Given the description of an element on the screen output the (x, y) to click on. 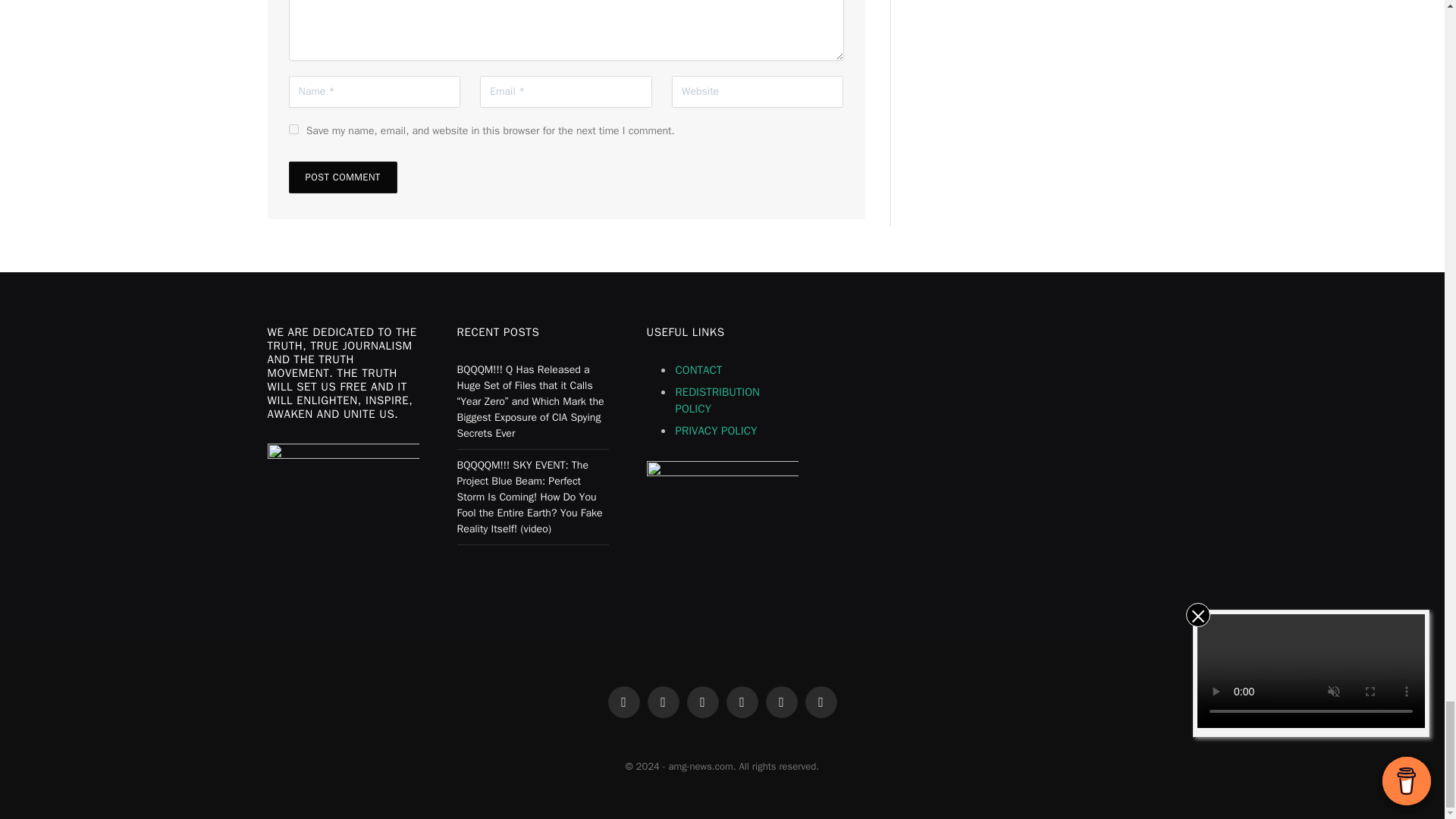
yes (293, 129)
Post Comment (342, 177)
